Given the description of an element on the screen output the (x, y) to click on. 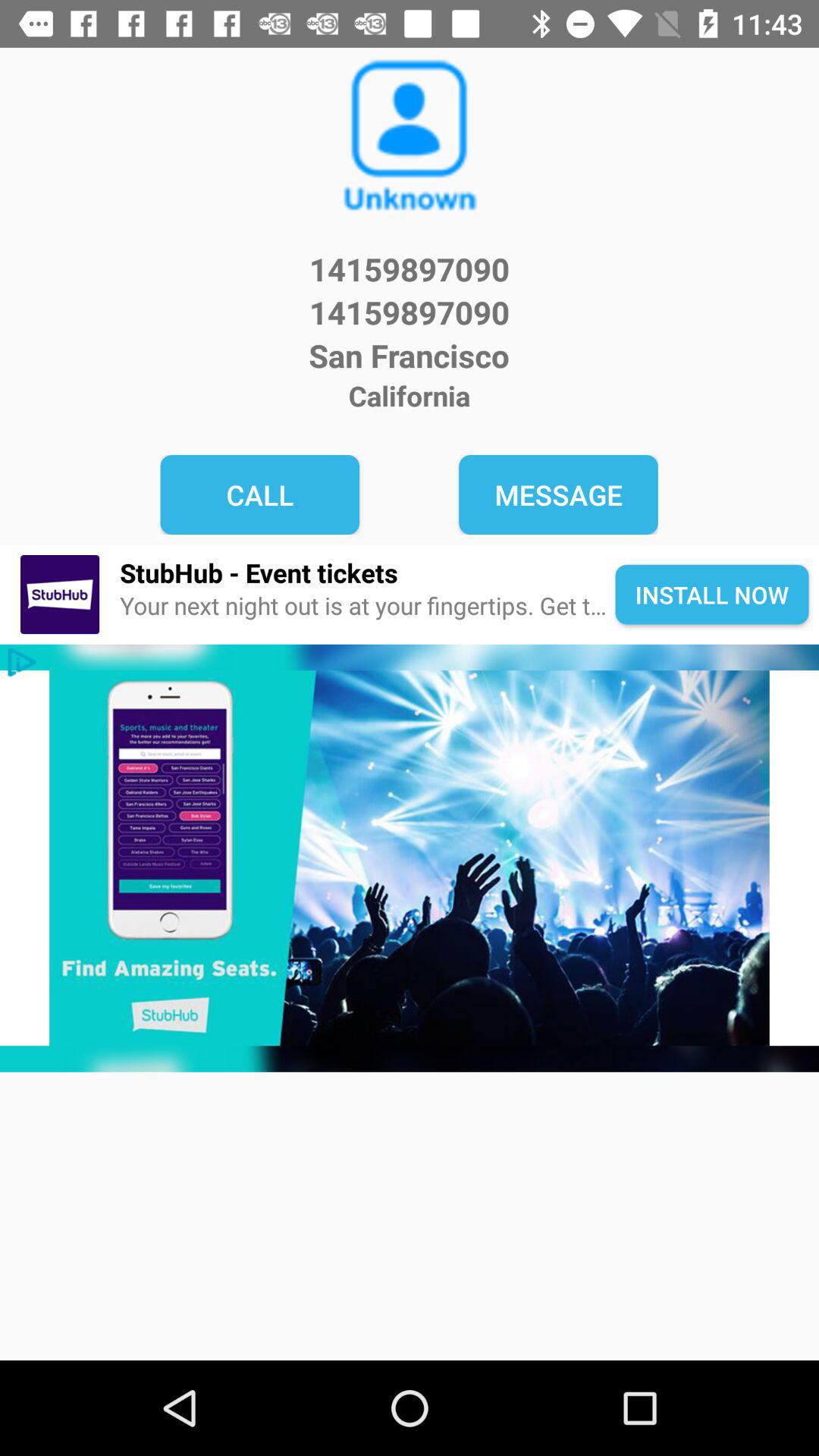
turn off stubhub - event tickets item (367, 572)
